Given the description of an element on the screen output the (x, y) to click on. 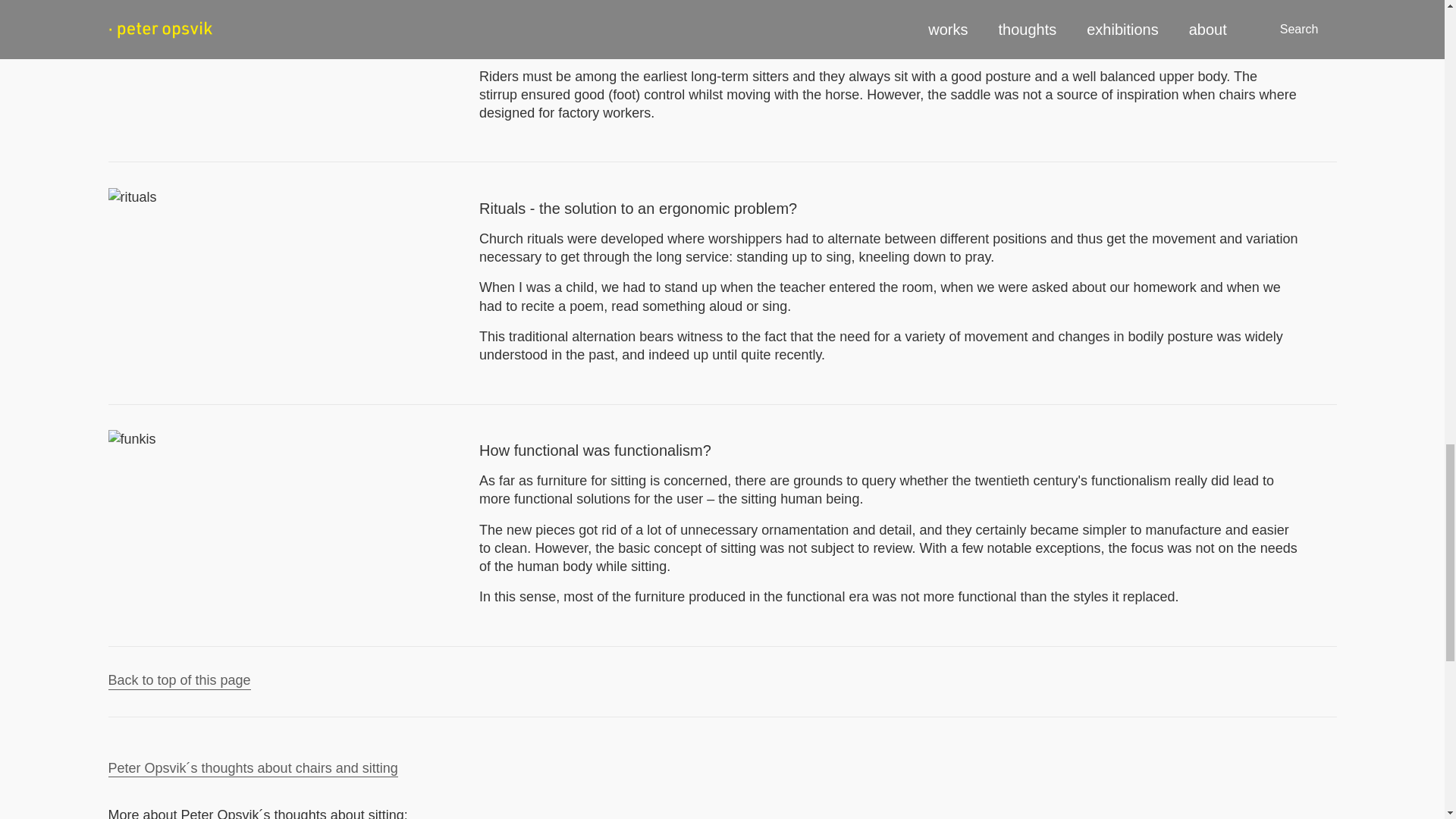
Back to top of this page (178, 681)
